Given the description of an element on the screen output the (x, y) to click on. 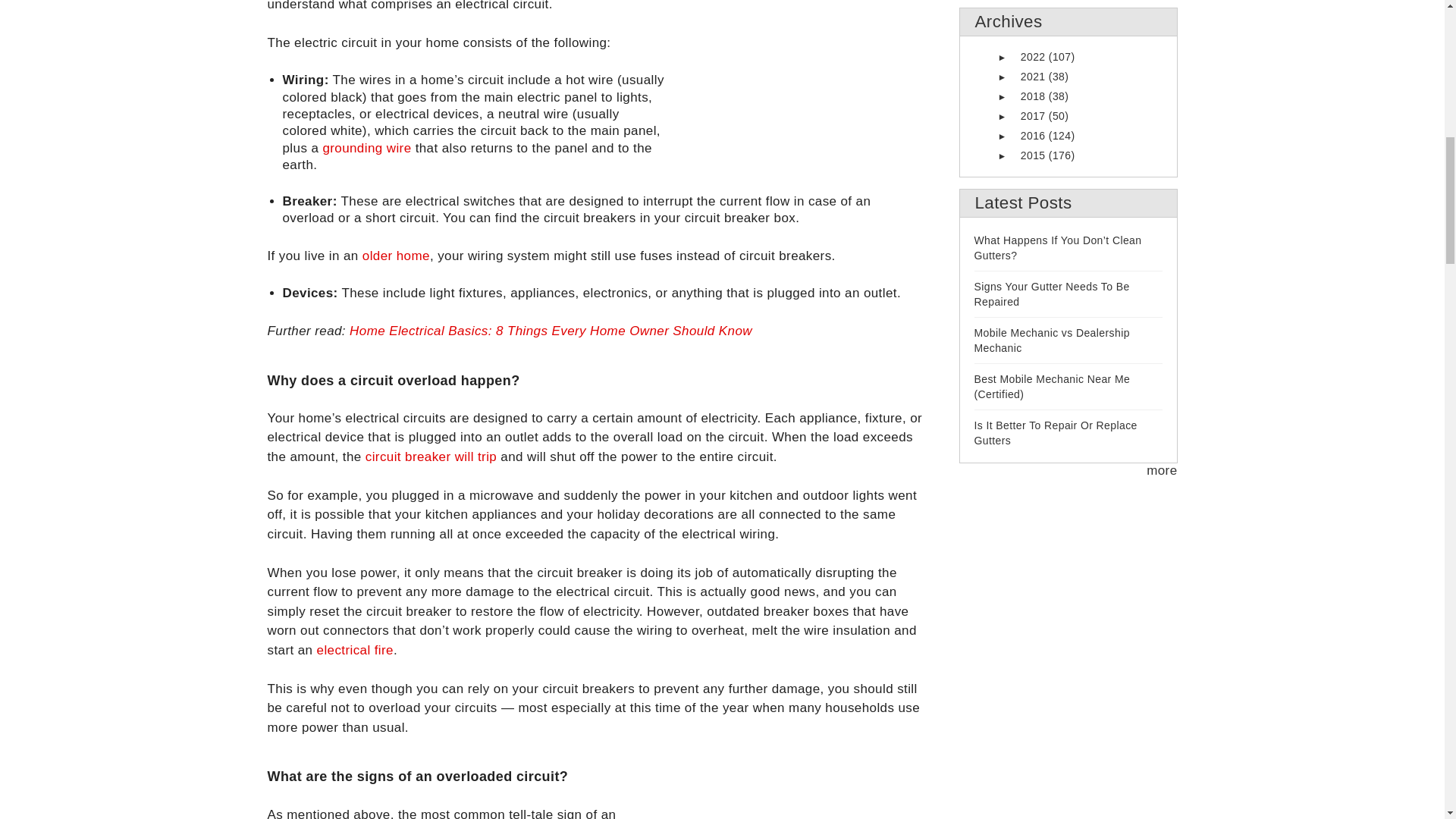
grounding wire (365, 147)
older home (395, 255)
electrical fire (355, 649)
circuit breaker will trip (430, 456)
